Given the description of an element on the screen output the (x, y) to click on. 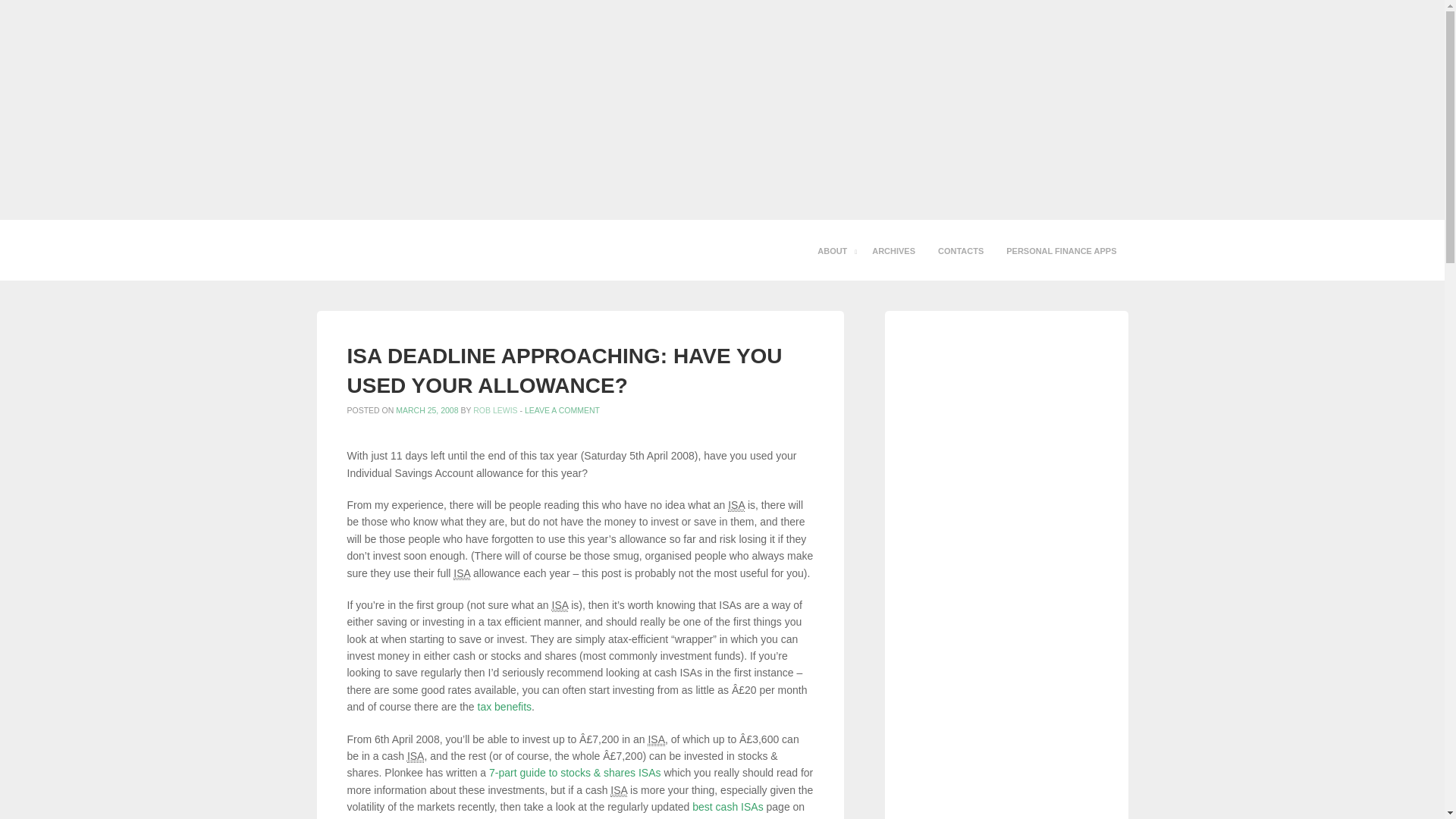
Individual Savings Account (560, 604)
ROB LEWIS (494, 409)
Individual Savings Account (618, 789)
Search (24, 13)
MARCH 25, 2008 (427, 409)
CONTACTS (960, 250)
Individual Savings Account (656, 739)
tax benefits (504, 706)
Individual Savings Account (736, 504)
LEAVE A COMMENT (561, 409)
ARCHIVES (893, 250)
best cash ISAs (727, 806)
PERSONAL FINANCE APPS (1060, 250)
Individual Savings Account (461, 573)
